Given the description of an element on the screen output the (x, y) to click on. 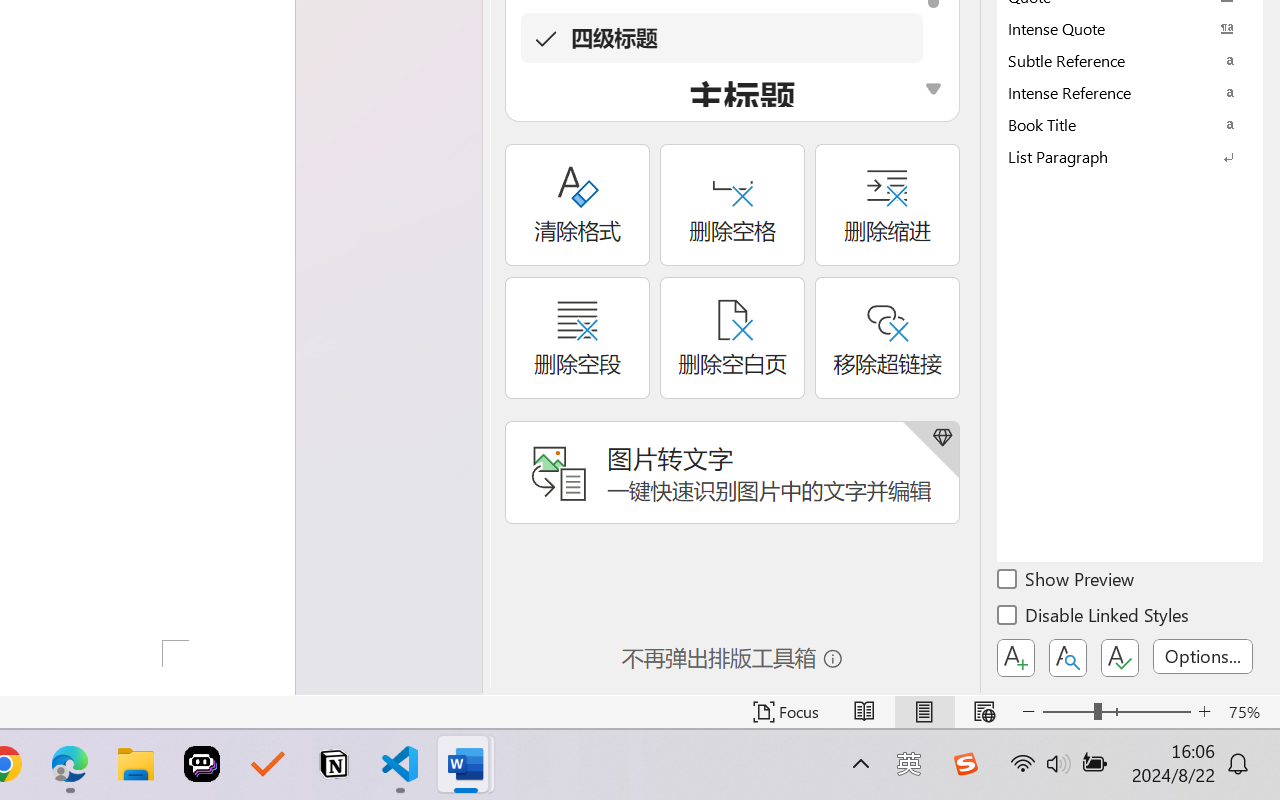
Intense Reference (1130, 92)
Show Preview (1067, 582)
Intense Quote (1130, 28)
Class: NetUIButton (1119, 657)
